Given the description of an element on the screen output the (x, y) to click on. 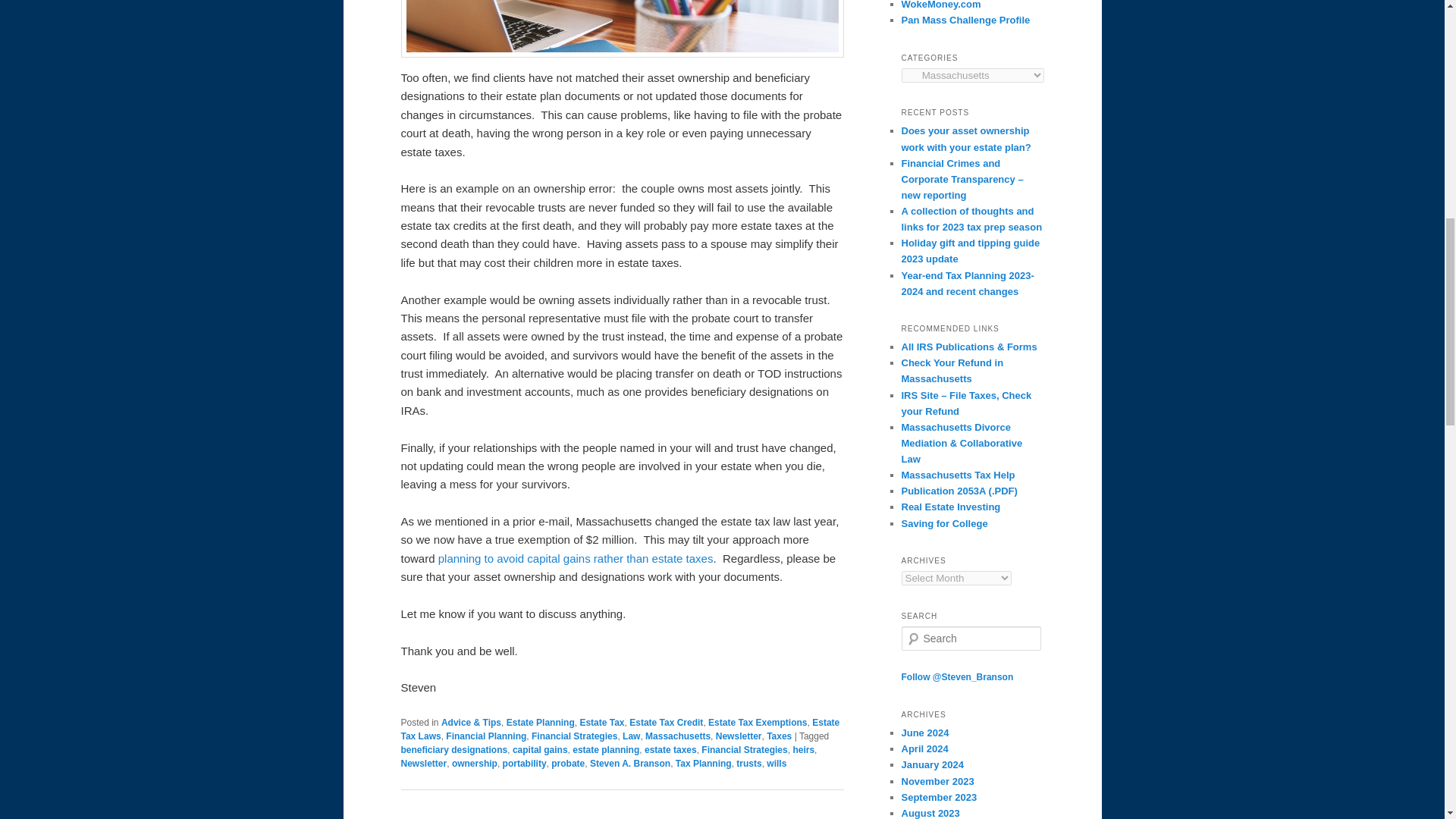
Law (631, 736)
estate planning (605, 749)
wills (776, 763)
Estate Tax Credit (665, 722)
Financial Planning (485, 736)
Tax Planning (703, 763)
portability (524, 763)
Taxes (779, 736)
beneficiary designations (453, 749)
Financial Strategies (574, 736)
Check Your Refund in Massachusetts (952, 370)
Estate Tax Exemptions (757, 722)
File Taxes, Check your Refund (965, 402)
Quick and Easy Access to IRS Tax Help and Forms  (958, 490)
Newsletter (738, 736)
